Given the description of an element on the screen output the (x, y) to click on. 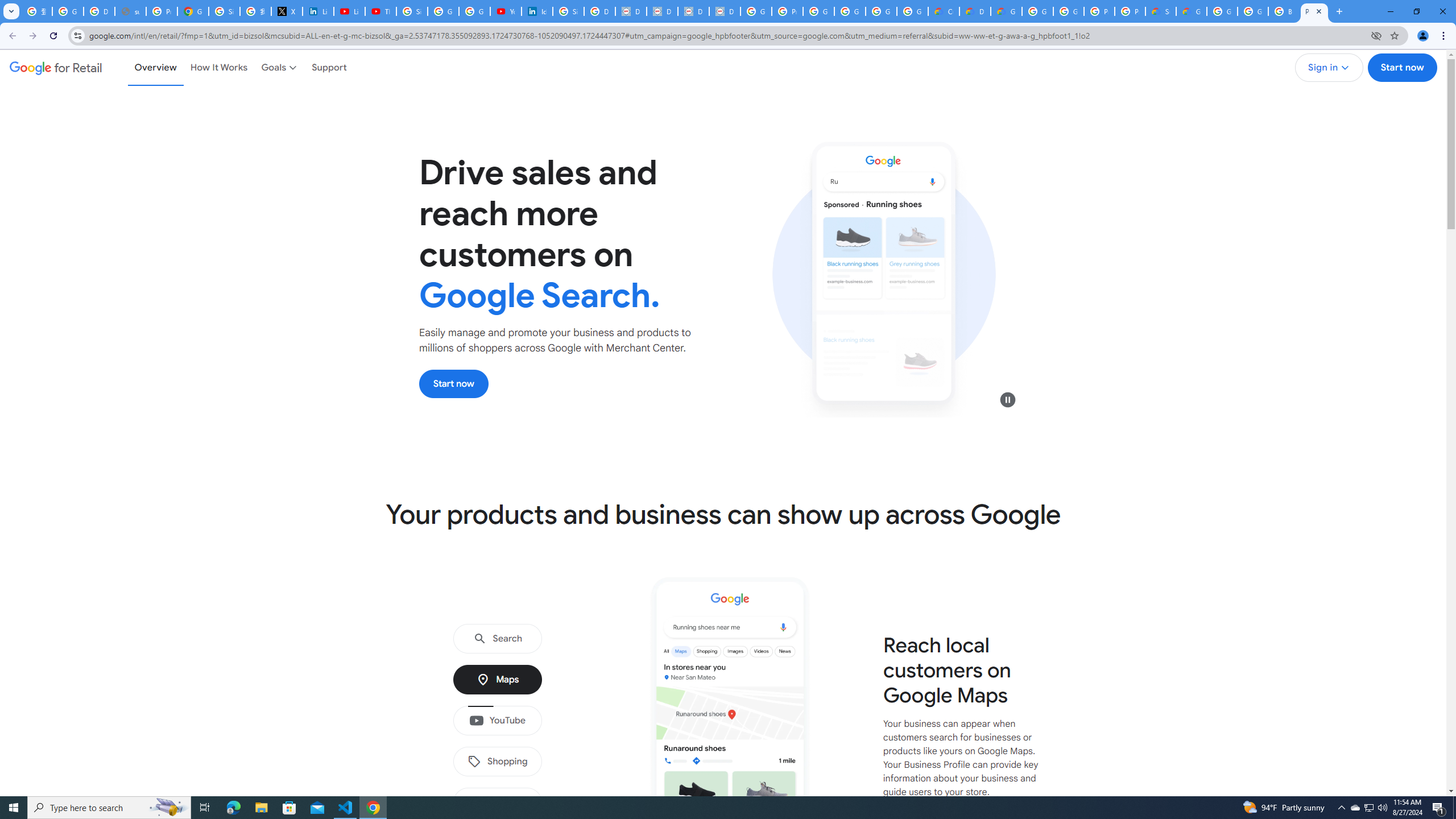
Sign in - Google Accounts (411, 11)
Pause animation (1007, 399)
How It Works (218, 67)
X (286, 11)
Google Cloud Platform (1037, 11)
Google Cloud Platform (1222, 11)
